Given the description of an element on the screen output the (x, y) to click on. 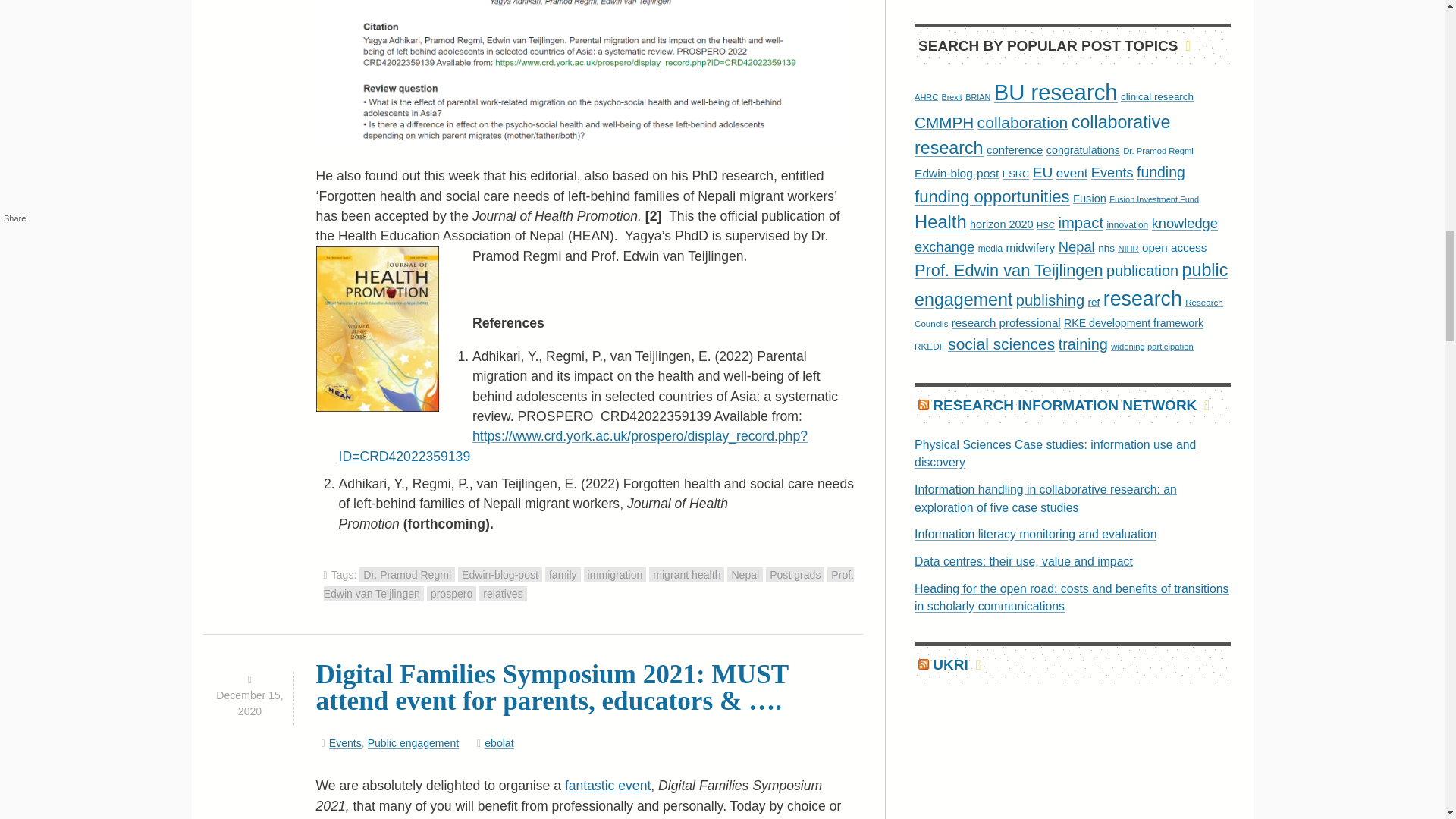
Posts by ebolat (498, 743)
